Given the description of an element on the screen output the (x, y) to click on. 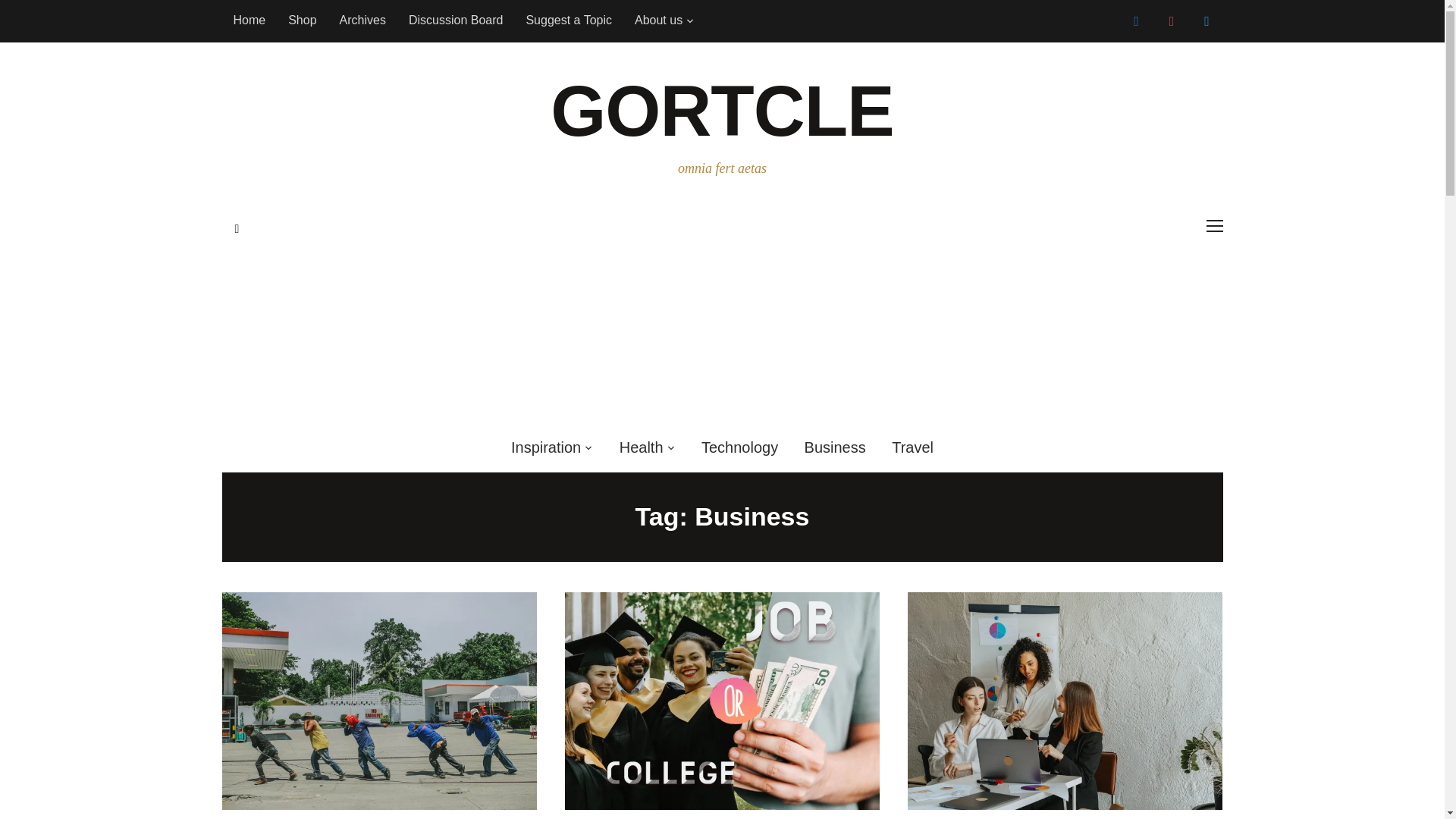
omnia fert aetas (721, 110)
Should I go to university or get a job in 2023? (722, 699)
Friend me on Facebook (1137, 19)
Follow Me (1206, 19)
What are the disadvantages of working after high school? (379, 699)
What are the benefits of working in an office? (1065, 699)
